Given the description of an element on the screen output the (x, y) to click on. 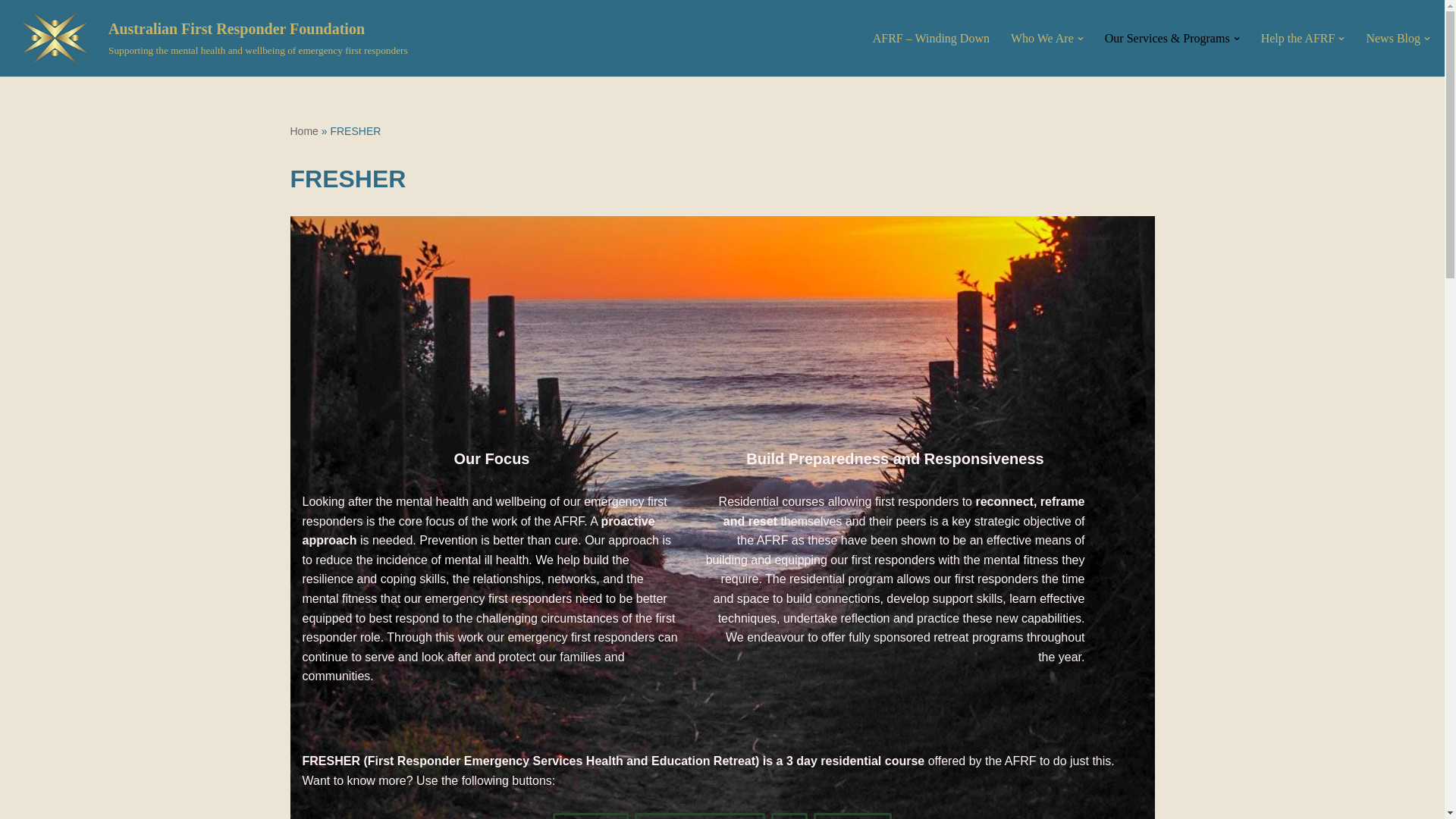
Skip to content (11, 31)
News Blog (1393, 37)
Help the AFRF (1297, 37)
Who We Are (1042, 37)
